Given the description of an element on the screen output the (x, y) to click on. 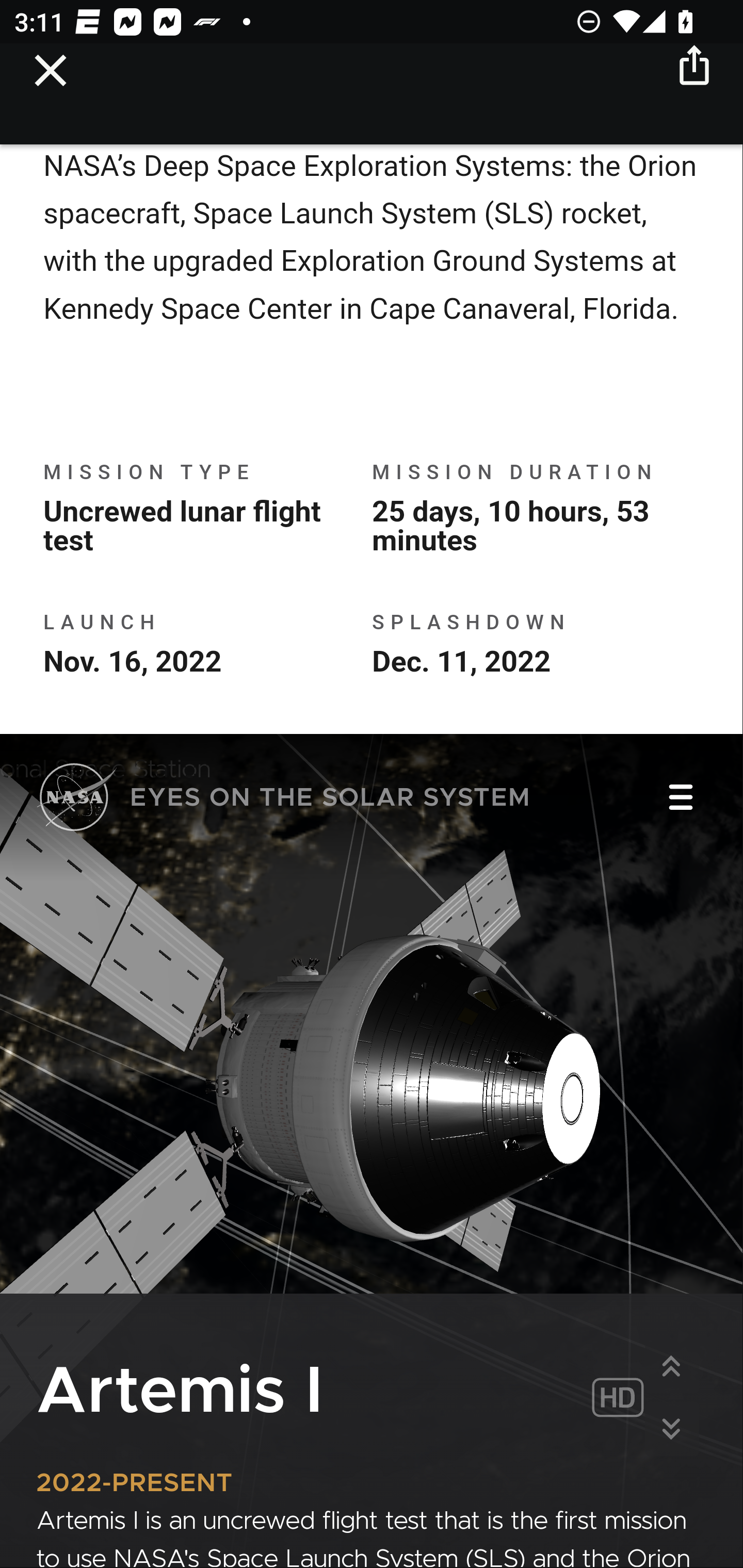
EYES ON THE SOLAR SYSTEM (283, 800)
Expand content panel to full screen (671, 1367)
Toggle high definition textures (617, 1400)
Collapse content panel (671, 1429)
